Given the description of an element on the screen output the (x, y) to click on. 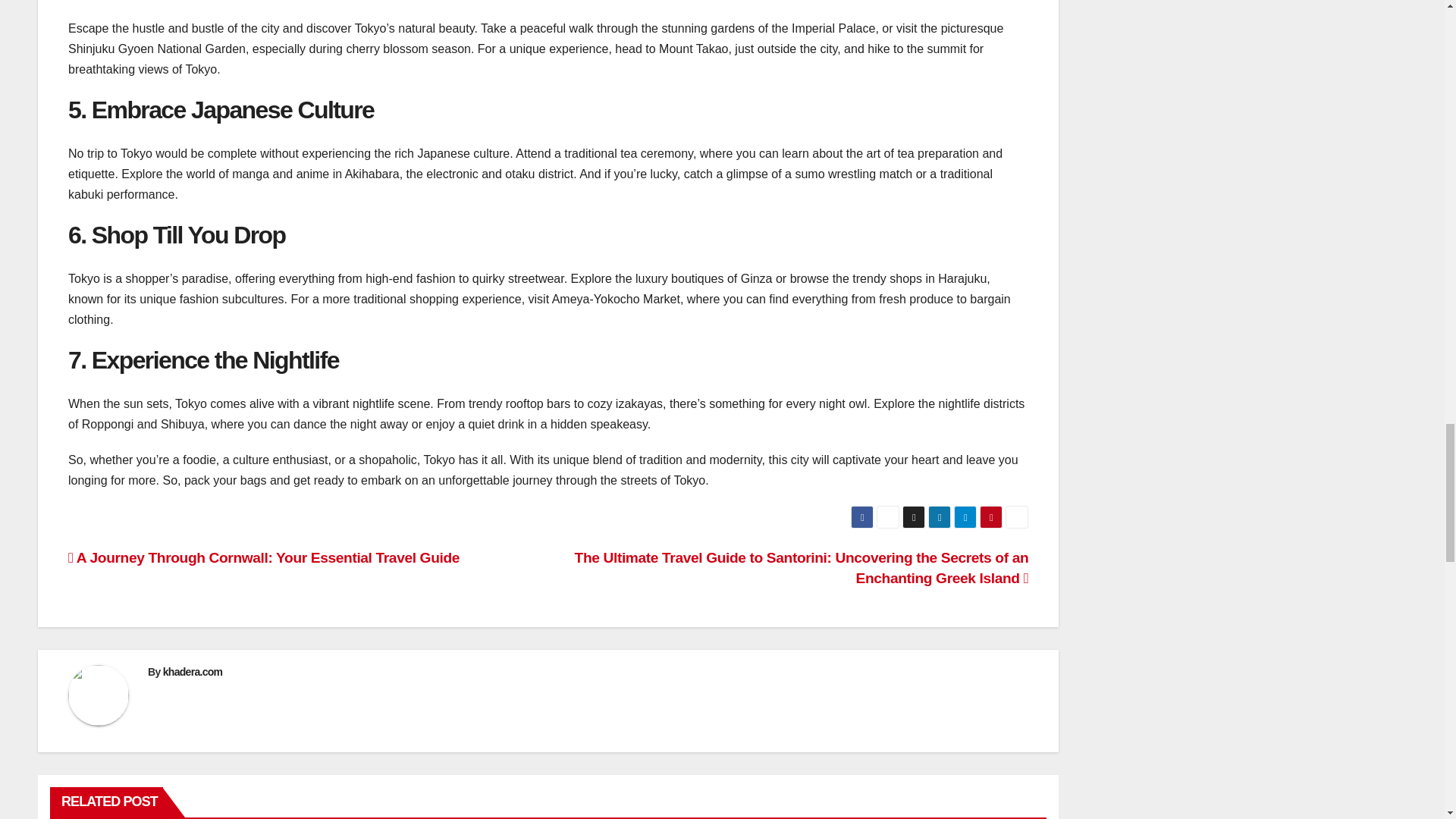
A Journey Through Cornwall: Your Essential Travel Guide (264, 557)
khadera.com (192, 671)
